Given the description of an element on the screen output the (x, y) to click on. 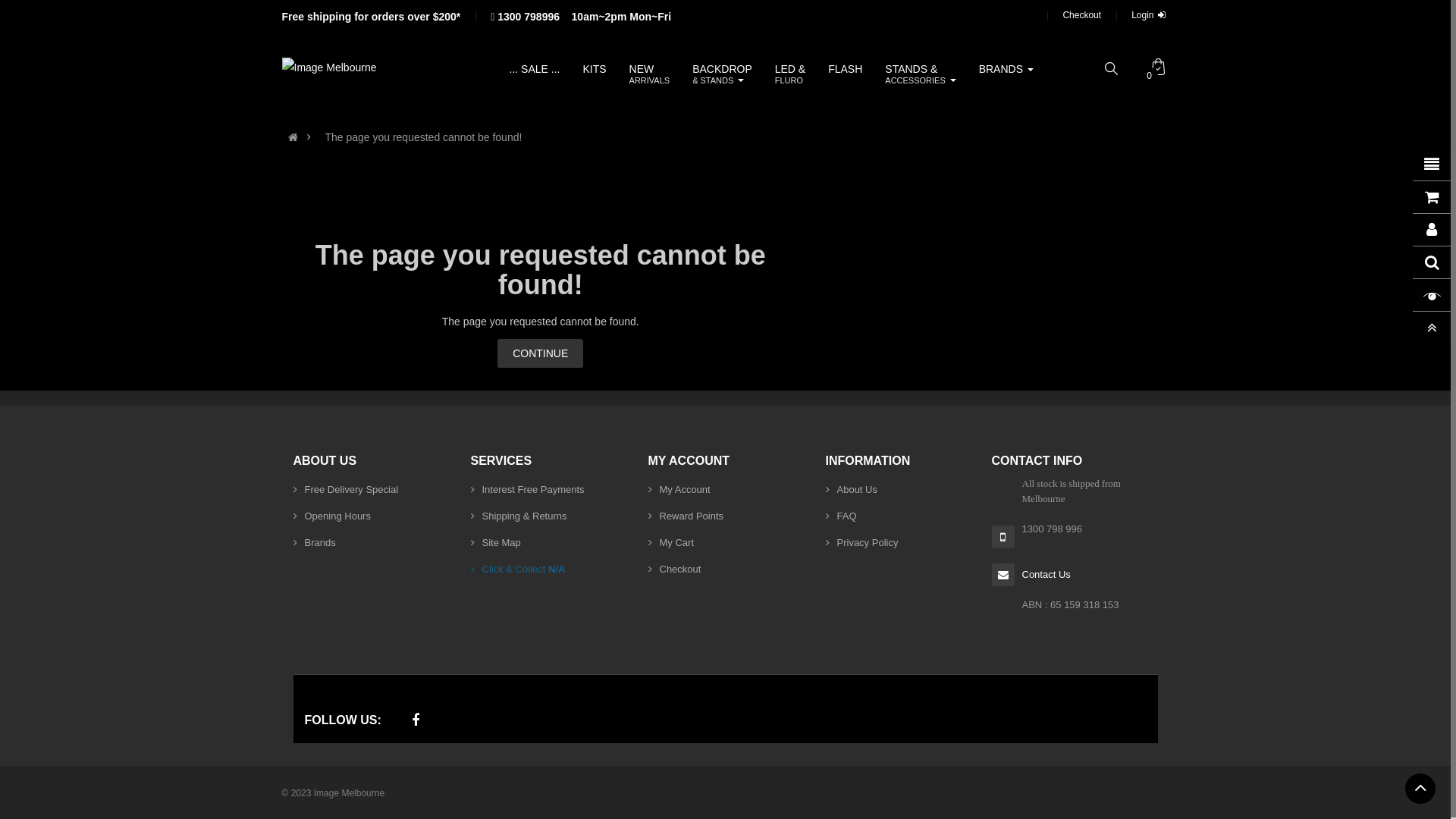
Checkout Element type: text (673, 568)
Image Melbourne Element type: hover (329, 67)
BRANDS Element type: text (1006, 68)
Contact Us Element type: text (1046, 574)
Interest Free Payments Element type: text (526, 489)
10am~2pm Mon~Fri Element type: text (621, 16)
About Us Element type: text (850, 489)
My Cart Element type: text (670, 542)
CONTINUE Element type: text (540, 352)
Free Delivery Special Element type: text (345, 489)
The page you requested cannot be found! Element type: text (422, 136)
STANDS &
ACCESSORIES Element type: text (919, 74)
Site Map Element type: text (495, 542)
Reward Points Element type: text (685, 515)
Login Element type: text (1149, 14)
KITS Element type: text (593, 68)
Click & Collect N/A Element type: text (517, 568)
Opening Hours Element type: text (331, 515)
My Account Element type: text (678, 489)
Privacy Policy Element type: text (861, 542)
Free shipping for orders over $200* Element type: text (371, 16)
Checkout Element type: text (1081, 14)
NEW
ARRIVALS Element type: text (649, 74)
Shipping & Returns Element type: text (518, 515)
FAQ Element type: text (840, 515)
LED &
FLURO Element type: text (790, 74)
Brands Element type: text (313, 542)
BACKDROP
& STANDS Element type: text (722, 74)
FLASH Element type: text (845, 68)
... SALE ... Element type: text (534, 68)
